Given the description of an element on the screen output the (x, y) to click on. 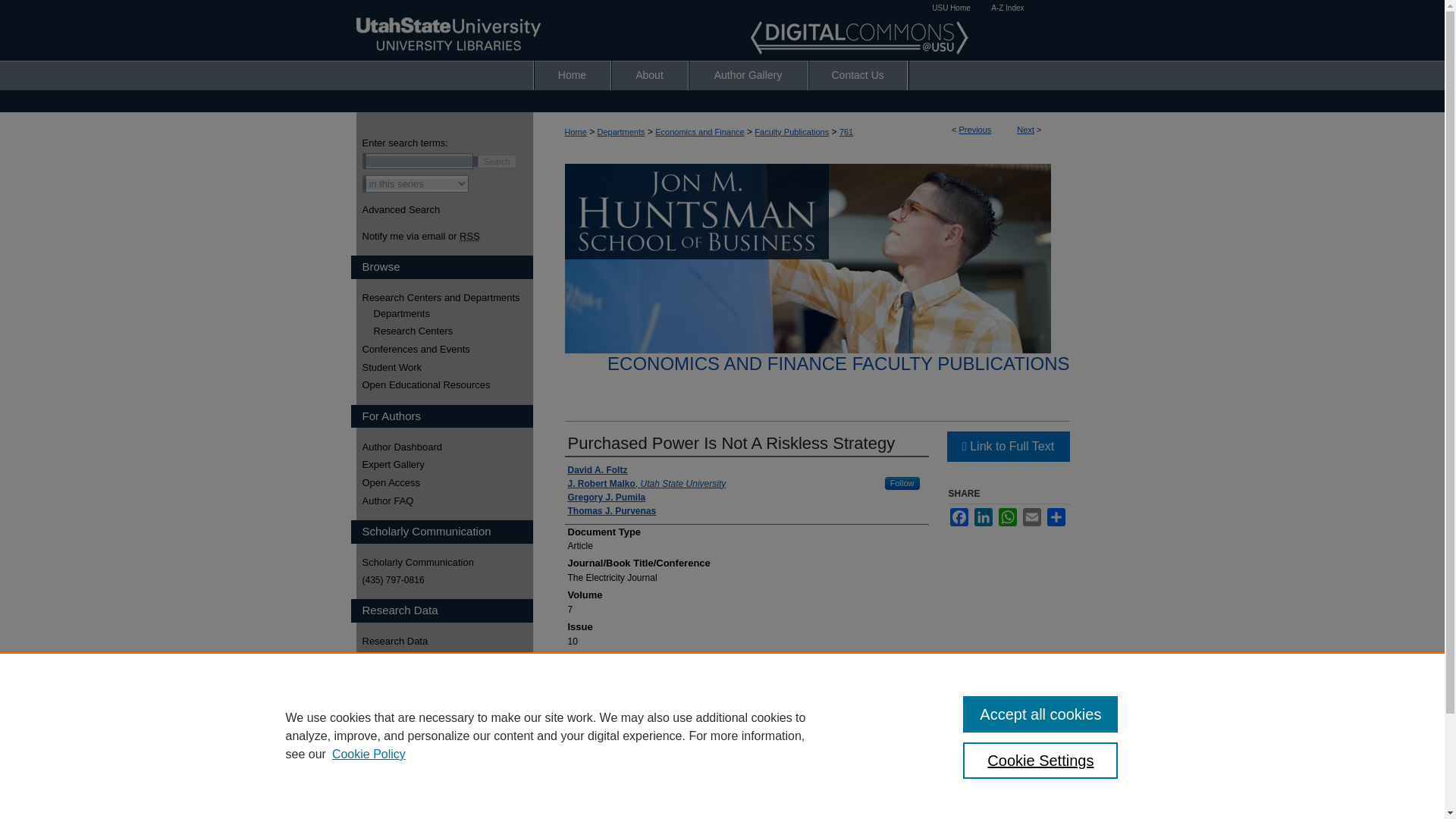
Email (1031, 516)
Economics and Finance (699, 131)
Faculty Publications (791, 131)
A-Z Index (1006, 8)
Search (496, 161)
WhatsApp (1006, 516)
Departments (620, 131)
USU Home (951, 8)
Really Simple Syndication (470, 236)
Share (1055, 516)
About (649, 75)
Link opens in new window (1007, 446)
Email or RSS Notifications (447, 236)
Link to Full Text (1007, 446)
Follow J. Robert Malko (902, 482)
